Given the description of an element on the screen output the (x, y) to click on. 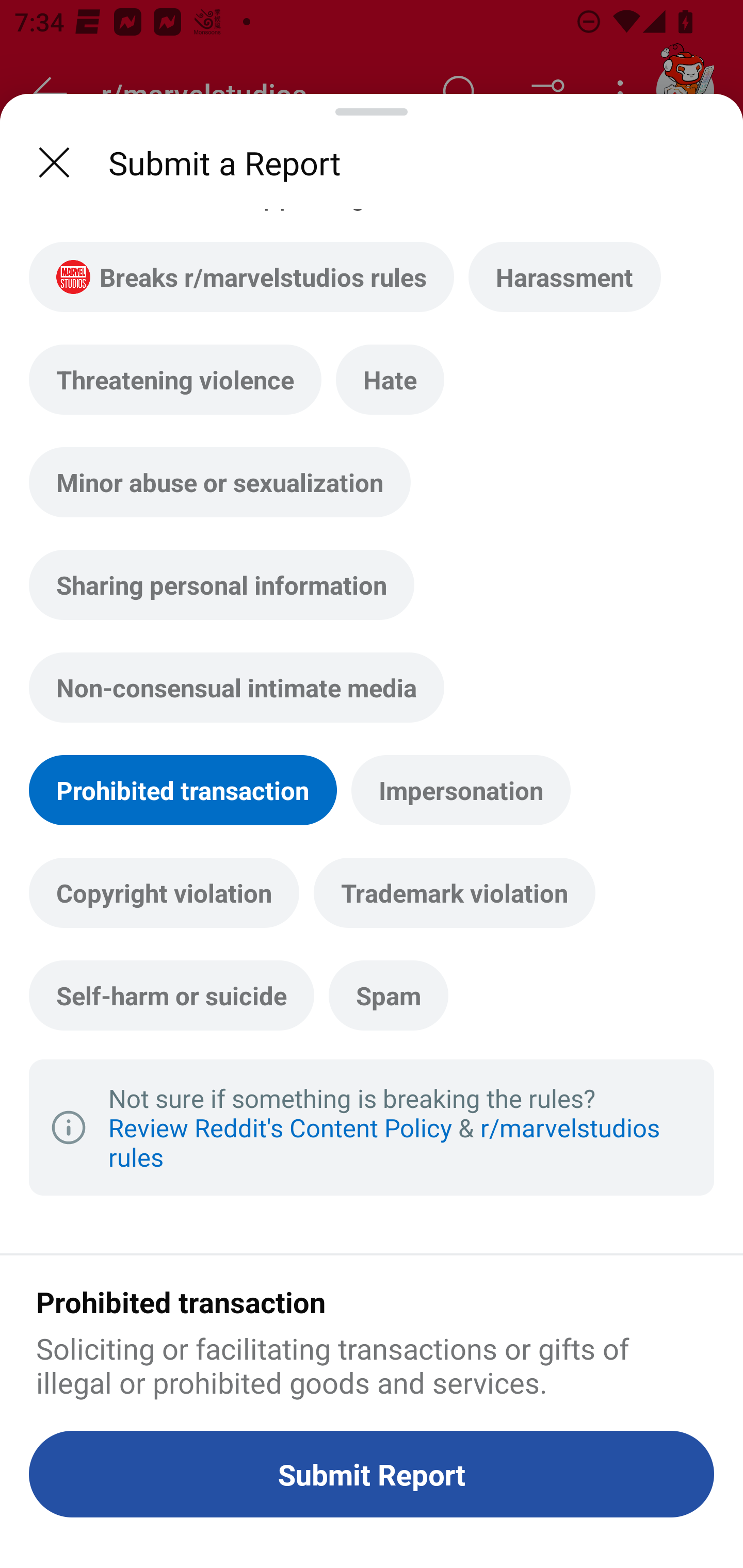
Close (53, 162)
Harassment (564, 276)
Threatening violence (174, 378)
Hate (389, 378)
Minor abuse or sexualization (219, 481)
Sharing personal information (221, 584)
Non-consensual intimate media (236, 687)
Prohibited transaction (182, 789)
Impersonation (460, 789)
Copyright violation (163, 892)
Trademark violation (454, 892)
Self-harm or suicide (171, 994)
Spam (388, 994)
Submit Report (371, 1473)
